Given the description of an element on the screen output the (x, y) to click on. 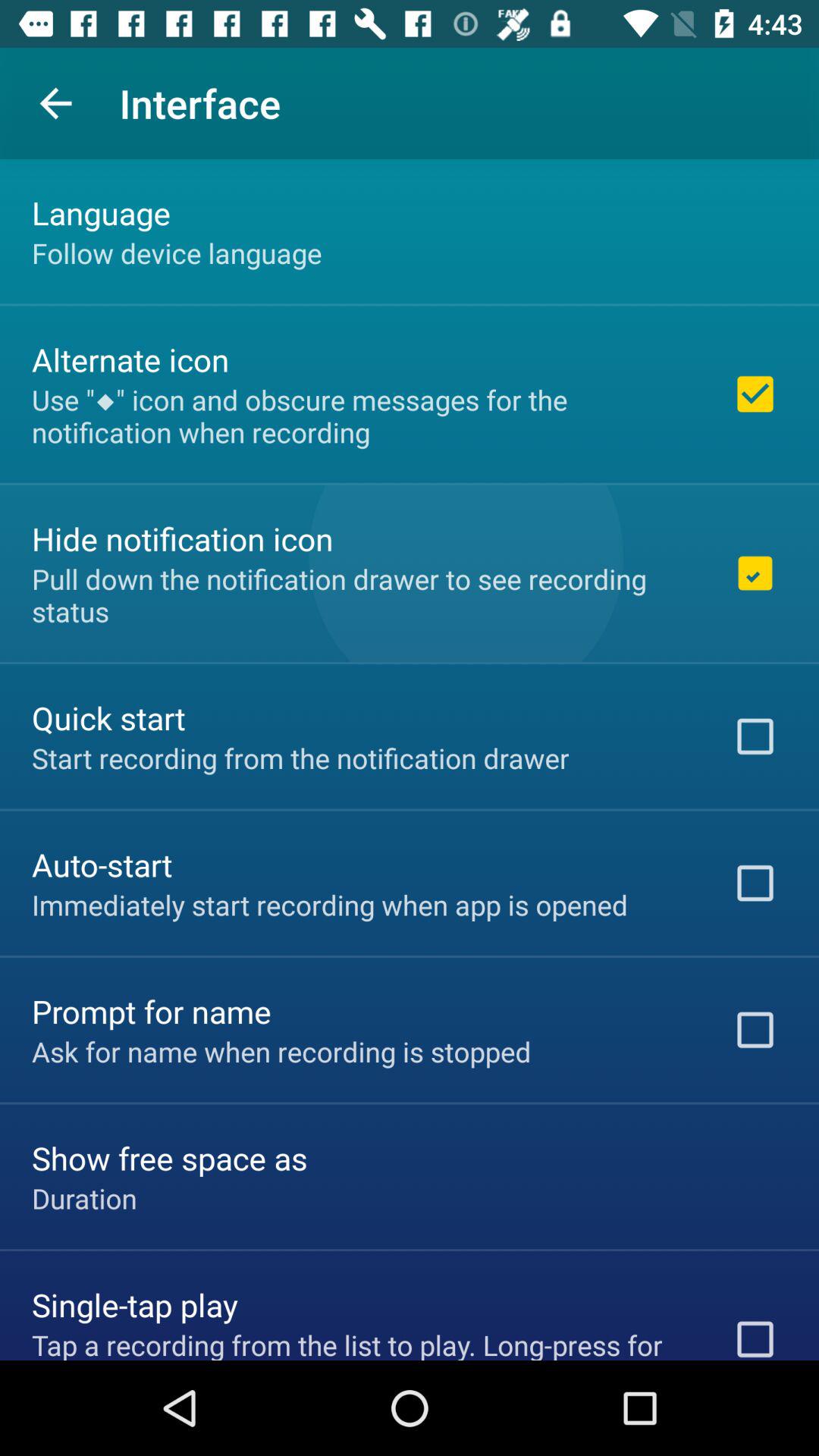
launch the item below the single-tap play icon (361, 1343)
